Given the description of an element on the screen output the (x, y) to click on. 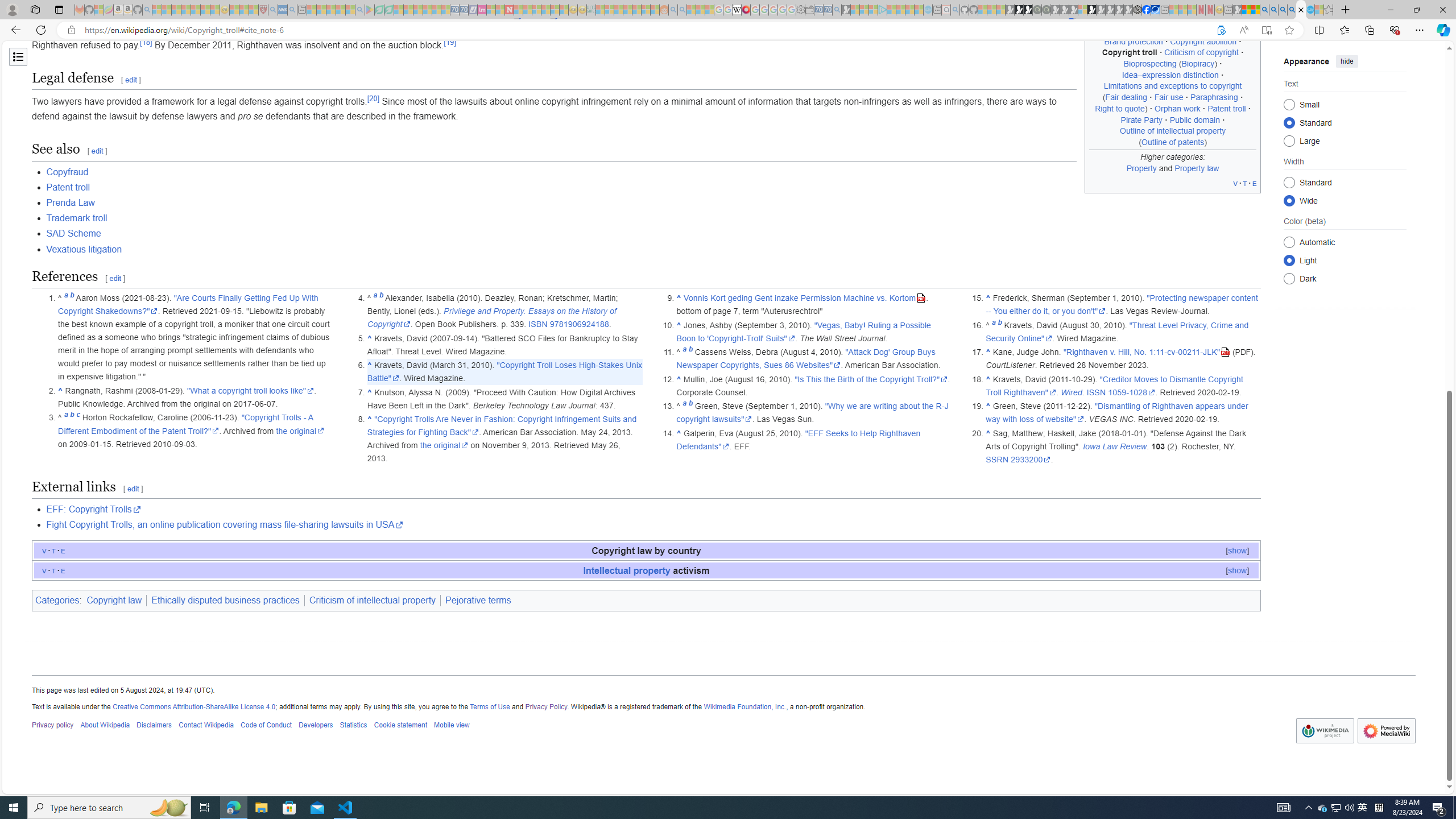
Sign in to your account - Sleeping (1082, 9)
AirNow.gov (1154, 9)
Pets - MSN - Sleeping (340, 9)
Play Zoo Boom in your browser | Games from Microsoft Start (1018, 9)
(Biopiracy) (1197, 63)
MediaWiki (745, 9)
Privacy policy (53, 725)
